Given the description of an element on the screen output the (x, y) to click on. 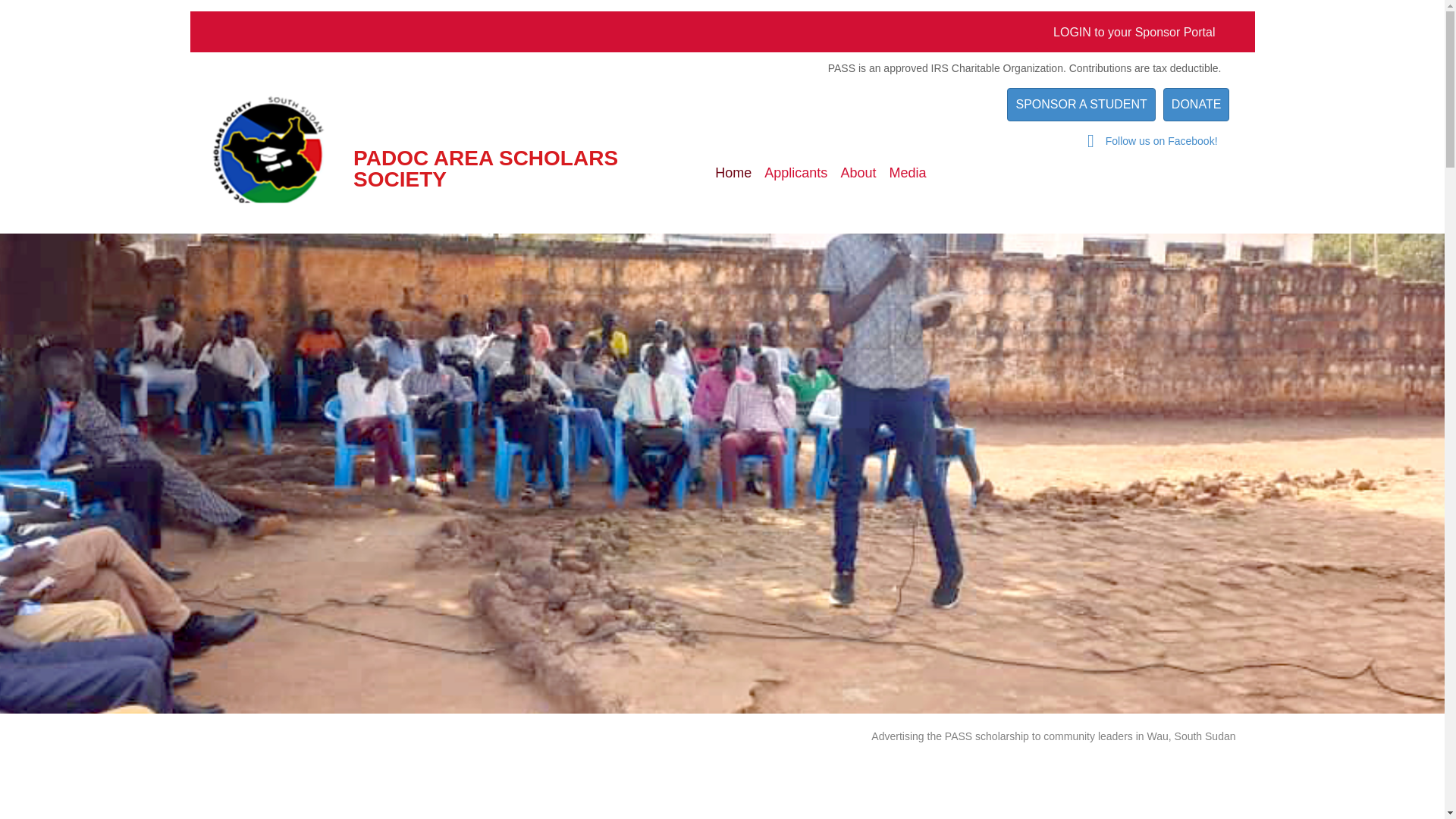
LOGIN to your Sponsor Portal (1134, 32)
DONATE (1195, 104)
Follow us on Facebook!  (1163, 141)
3rd take PASS logo 2 (268, 155)
Home (733, 172)
About (858, 172)
PADOC AREA SCHOLARS SOCIETY (485, 168)
SPONSOR A STUDENT (1080, 104)
PADOC AREA SCHOLARS SOCIETY (485, 168)
Applicants (795, 172)
Media (906, 172)
